Given the description of an element on the screen output the (x, y) to click on. 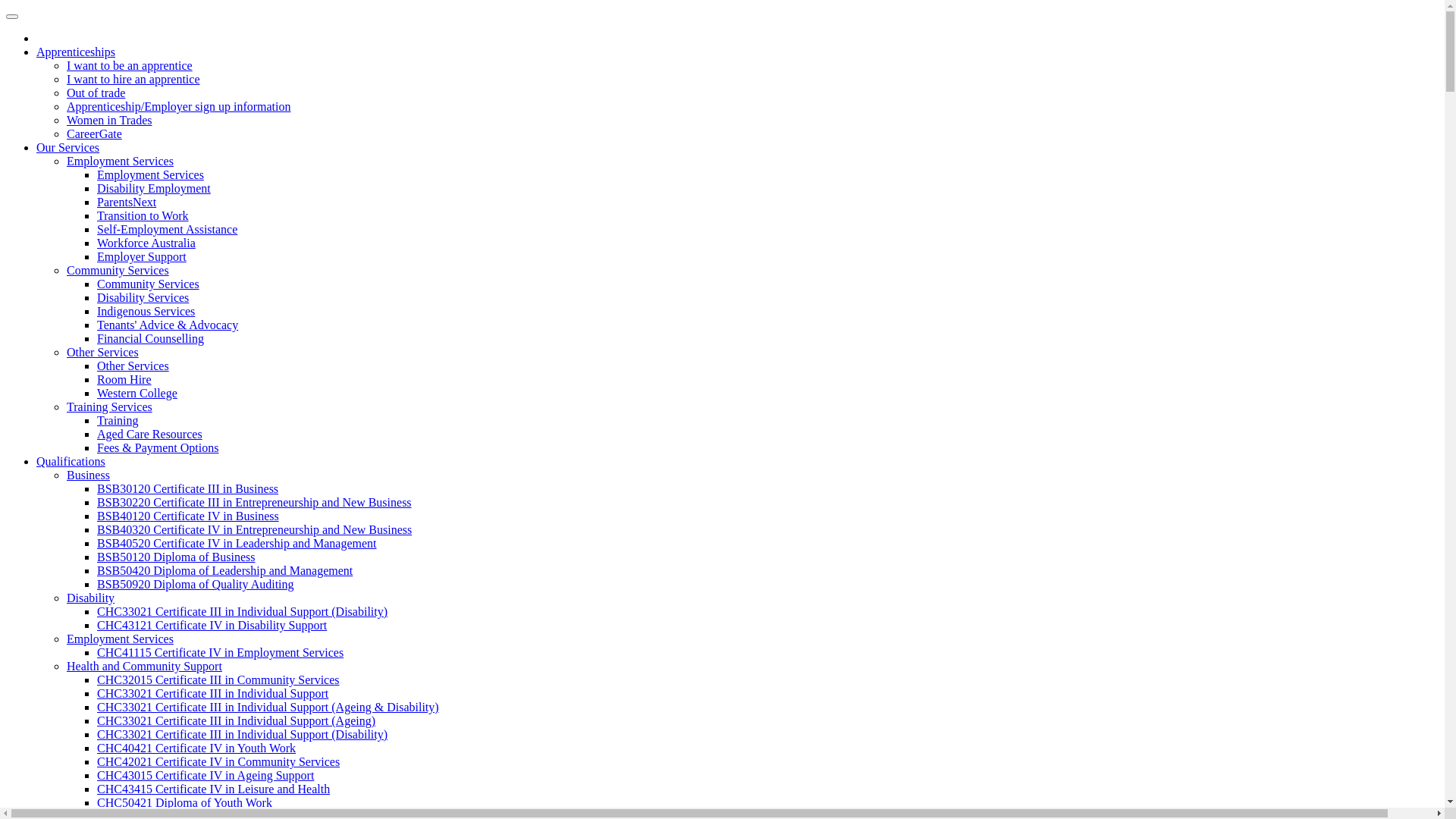
CHC43121 Certificate IV in Disability Support Element type: text (211, 624)
Community Services Element type: text (148, 283)
CareerGate Element type: text (94, 133)
Employment Services Element type: text (150, 174)
Out of trade Element type: text (95, 92)
Tenants' Advice & Advocacy Element type: text (167, 324)
BSB40120 Certificate IV in Business Element type: text (188, 515)
Workforce Australia Element type: text (146, 242)
Self-Employment Assistance Element type: text (167, 228)
Financial Counselling Element type: text (150, 338)
CHC50421 Diploma of Youth Work Element type: text (184, 802)
Western College Element type: text (137, 392)
BSB50120 Diploma of Business Element type: text (175, 556)
BSB50920 Diploma of Quality Auditing Element type: text (195, 583)
CHC42021 Certificate IV in Community Services Element type: text (218, 761)
Employment Services Element type: text (119, 160)
Business Element type: text (87, 474)
CHC33021 Certificate III in Individual Support (Ageing) Element type: text (236, 720)
ParentsNext Element type: text (126, 201)
BSB30120 Certificate III in Business Element type: text (187, 488)
CHC41115 Certificate IV in Employment Services Element type: text (220, 652)
Room Hire Element type: text (124, 379)
Indigenous Services Element type: text (145, 310)
Other Services Element type: text (102, 351)
CHC33021 Certificate III in Individual Support Element type: text (212, 693)
Qualifications Element type: text (70, 461)
Women in Trades Element type: text (109, 119)
CHC43015 Certificate IV in Ageing Support Element type: text (205, 774)
Other Services Element type: text (133, 365)
Employer Support Element type: text (141, 256)
Disability Employment Element type: text (153, 188)
Disability Element type: text (90, 597)
Our Services Element type: text (67, 147)
Apprenticeship/Employer sign up information Element type: text (178, 106)
CHC33021 Certificate III in Individual Support (Disability) Element type: text (242, 611)
BSB40520 Certificate IV in Leadership and Management Element type: text (236, 542)
CHC40421 Certificate IV in Youth Work Element type: text (196, 747)
Training Services Element type: text (109, 406)
Apprenticeships Element type: text (75, 51)
BSB40320 Certificate IV in Entrepreneurship and New Business Element type: text (254, 529)
Health and Community Support Element type: text (144, 665)
Training Element type: text (117, 420)
I want to be an apprentice Element type: text (129, 65)
Transition to Work Element type: text (142, 215)
I want to hire an apprentice Element type: text (132, 78)
Fees & Payment Options Element type: text (157, 447)
CHC33021 Certificate III in Individual Support (Disability) Element type: text (242, 734)
CHC43415 Certificate IV in Leisure and Health Element type: text (213, 788)
CHC32015 Certificate III in Community Services Element type: text (218, 679)
Disability Services Element type: text (142, 297)
Employment Services Element type: text (119, 638)
BSB50420 Diploma of Leadership and Management Element type: text (224, 570)
Community Services Element type: text (117, 269)
Aged Care Resources Element type: text (149, 433)
